Given the description of an element on the screen output the (x, y) to click on. 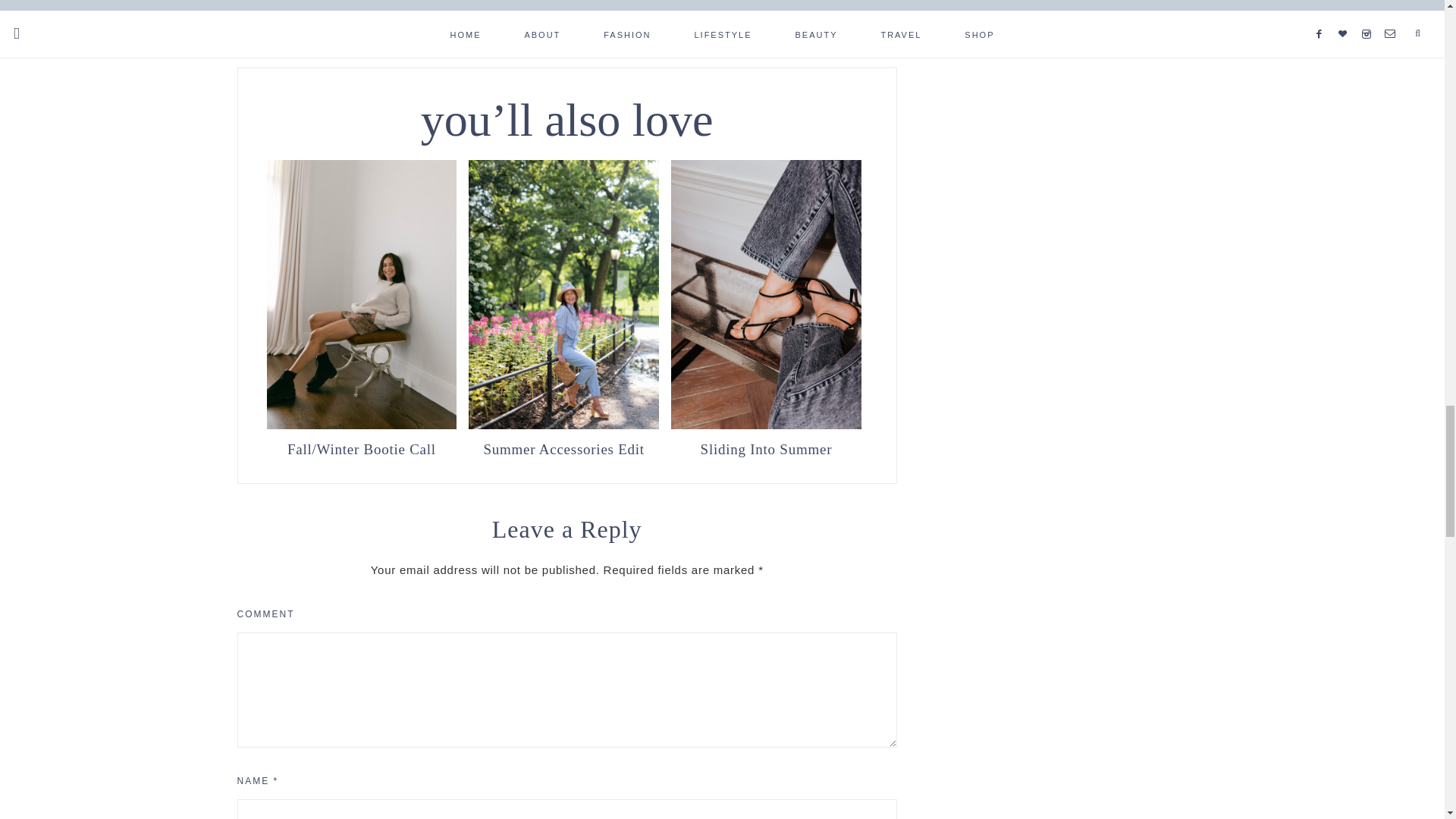
Permanent Link to Sliding Into Summer (766, 447)
Subscribe (807, 5)
Permanent Link to Sliding Into Summer (766, 424)
Permanent Link to Summer Accessories Edit (563, 447)
Permanent Link to Summer Accessories Edit (563, 424)
